Given the description of an element on the screen output the (x, y) to click on. 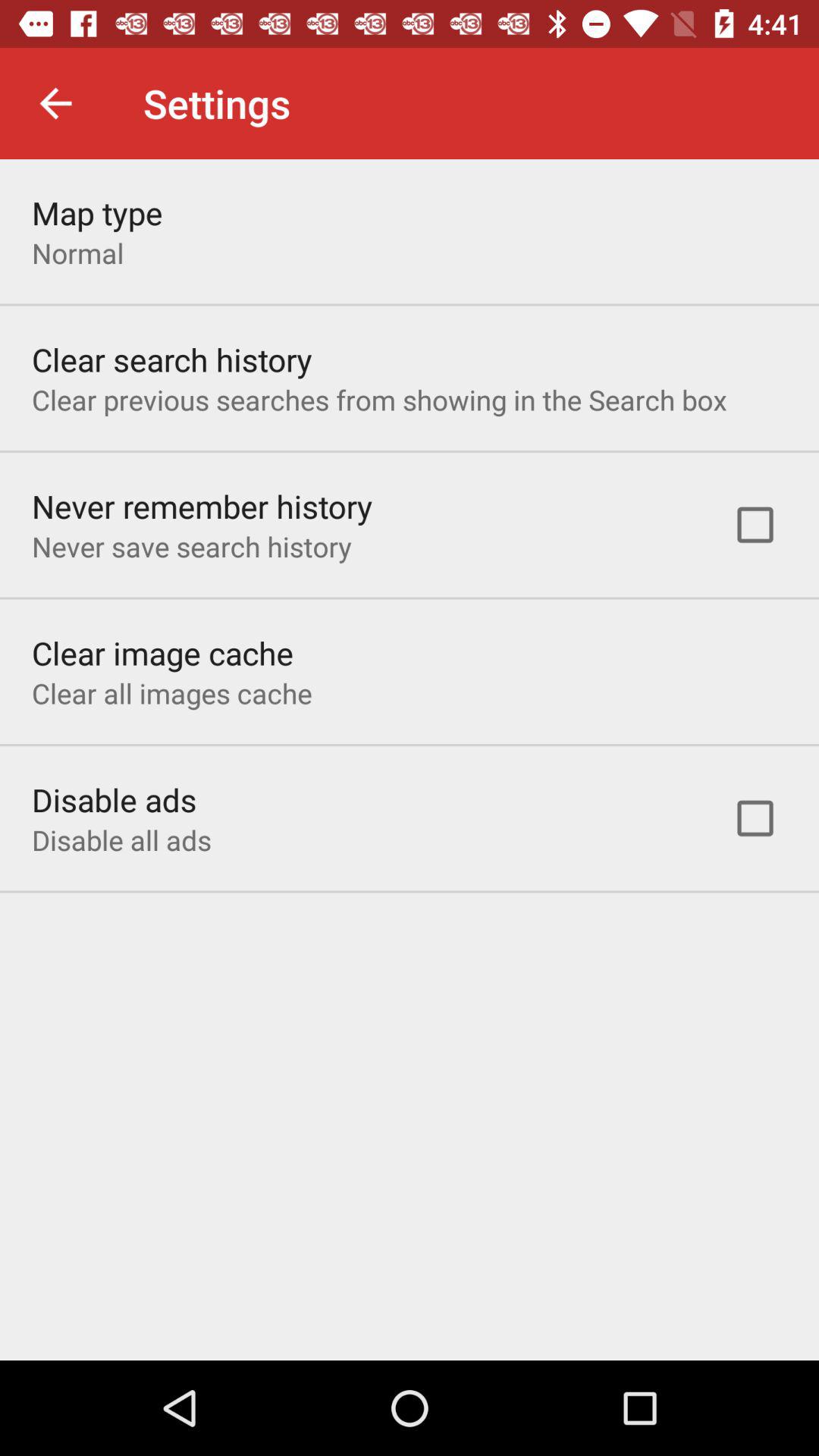
launch icon above clear image cache icon (191, 546)
